Given the description of an element on the screen output the (x, y) to click on. 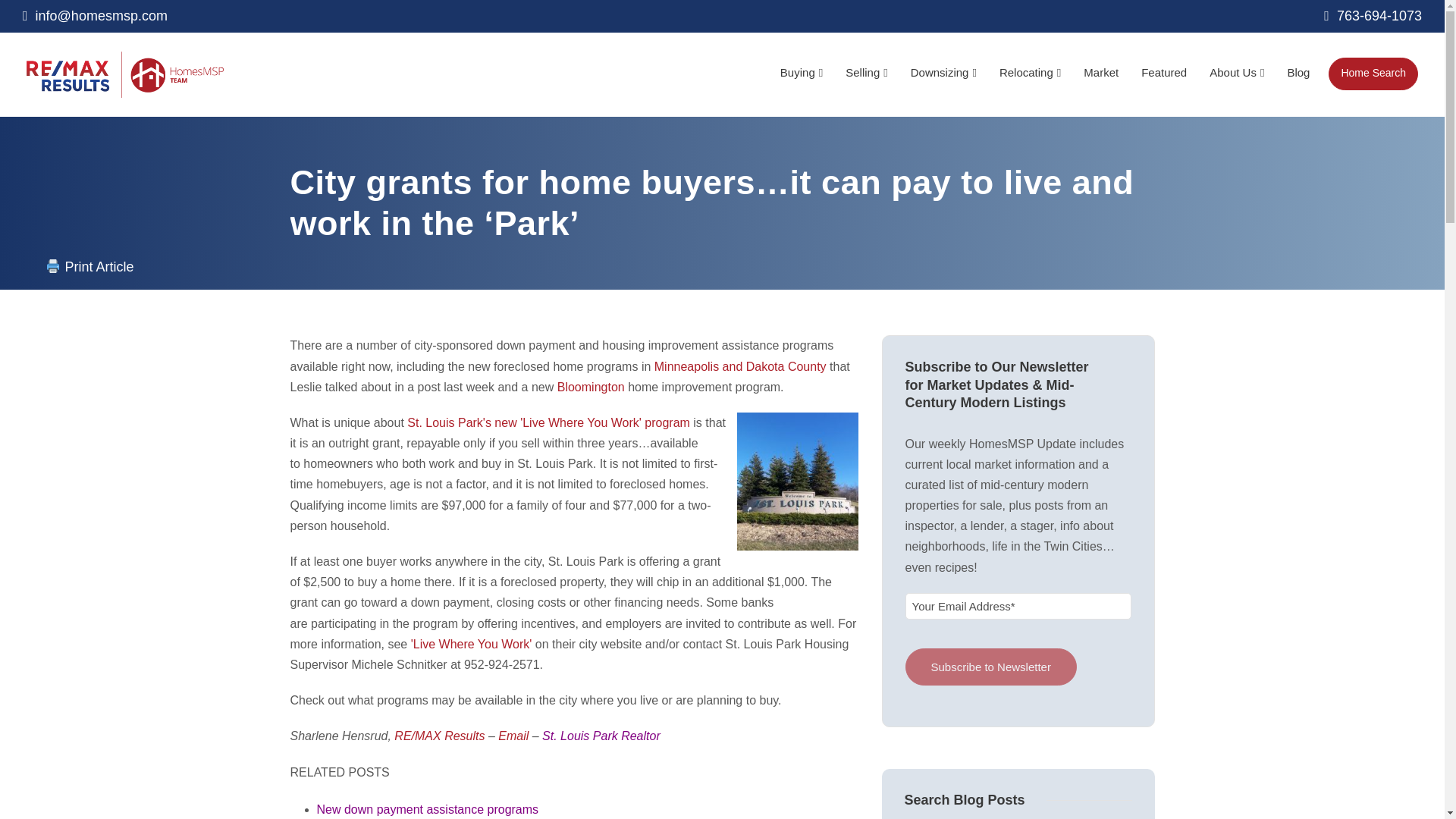
Subscribe to Newsletter (991, 666)
remax-homesmsp (125, 74)
